Given the description of an element on the screen output the (x, y) to click on. 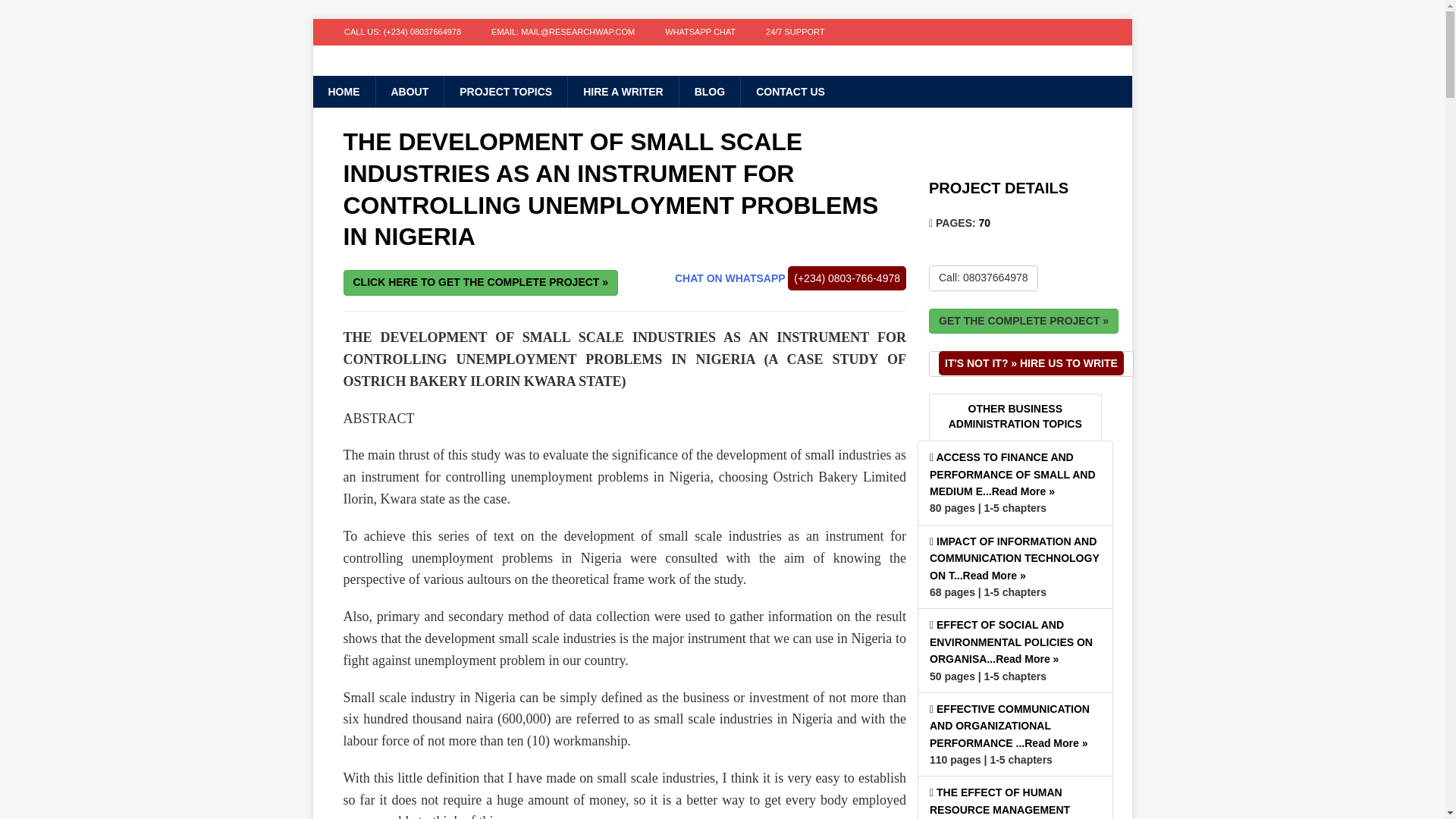
PROJECT TOPICS (505, 91)
HOME (343, 91)
70 (984, 223)
ABOUT (409, 91)
CONTACT US (789, 91)
OTHER BUSINESS ADMINISTRATION TOPICS (1015, 416)
BLOG (708, 91)
Call: 08037664978 (983, 278)
WHATSAPP CHAT (700, 31)
